Given the description of an element on the screen output the (x, y) to click on. 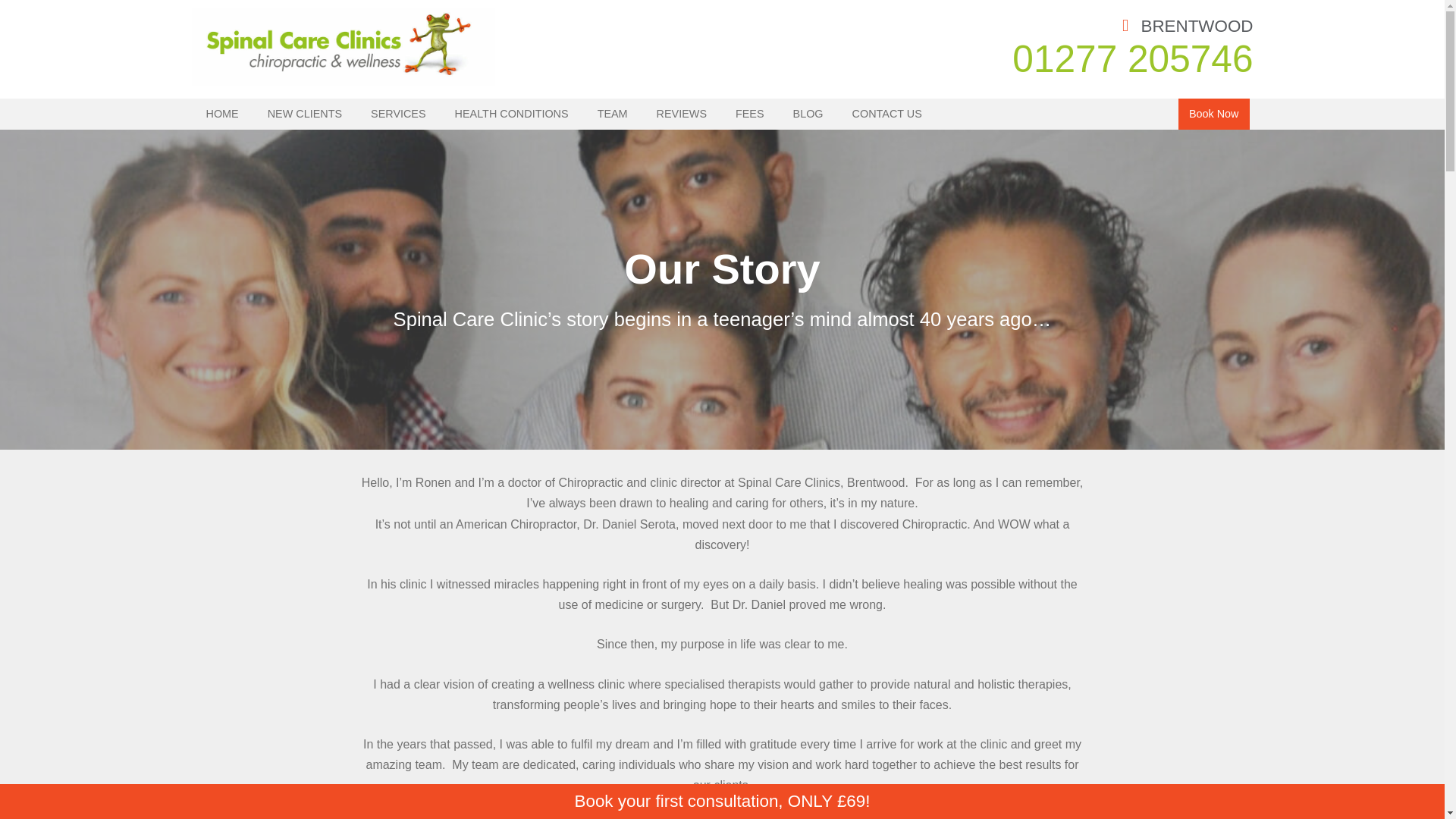
SERVICES (397, 114)
HOME (221, 114)
HEALTH CONDITIONS (511, 114)
CONTACT US (887, 114)
Book Now (1213, 114)
TEAM (612, 114)
REVIEWS (681, 114)
NEW CLIENTS (304, 114)
FEES (749, 114)
BRENTWOOD (1187, 26)
